Given the description of an element on the screen output the (x, y) to click on. 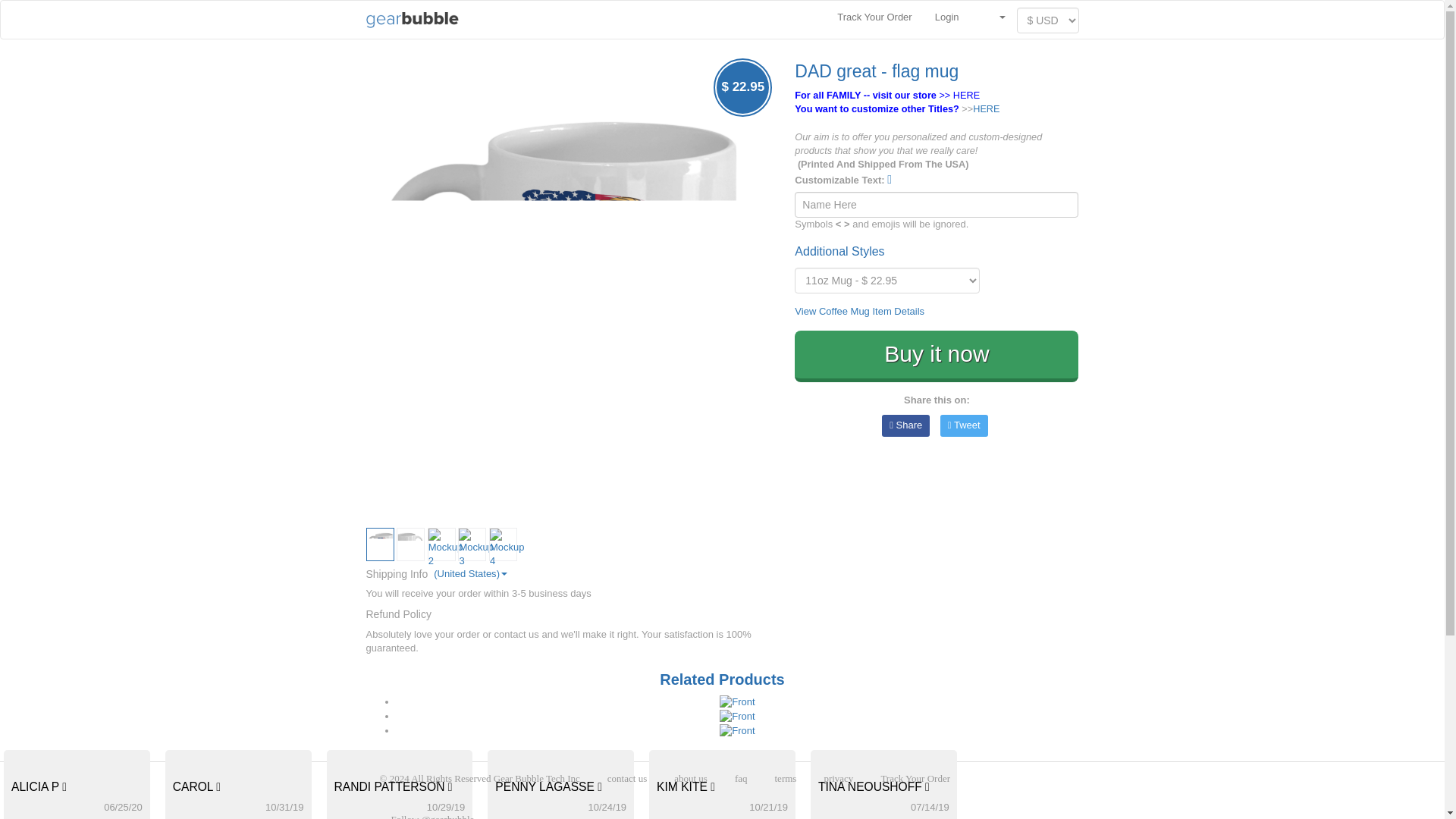
HERE (985, 108)
Login (947, 16)
View Coffee Mug Item Details (859, 310)
Buy it now (936, 356)
HERE (966, 94)
 Share (906, 425)
Track Your Order (874, 16)
 Tweet (964, 425)
